Given the description of an element on the screen output the (x, y) to click on. 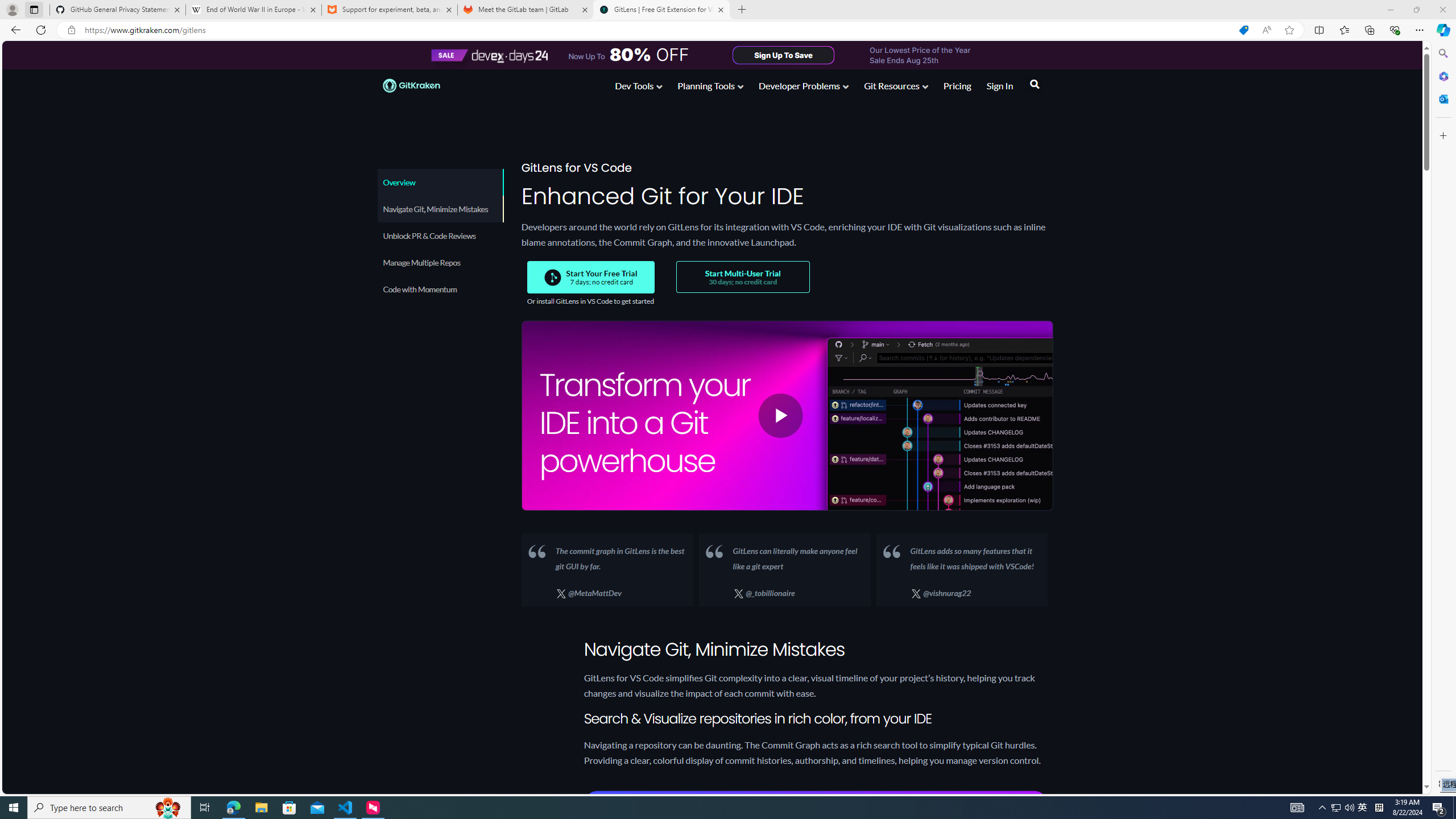
Code with Momentum (440, 289)
Running applications (707, 807)
Unblock PR & Code Reviews (439, 235)
Or install GitLens in VS Code to get started (590, 300)
Sign Up To Save (783, 54)
Sign In (999, 85)
Q2790: 100% (1349, 807)
Navigate Git, Minimize Mistakes (439, 209)
Navigate Git, Minimize Mistakes (440, 208)
GitHub General Privacy Statement - GitHub Docs (117, 9)
